Given the description of an element on the screen output the (x, y) to click on. 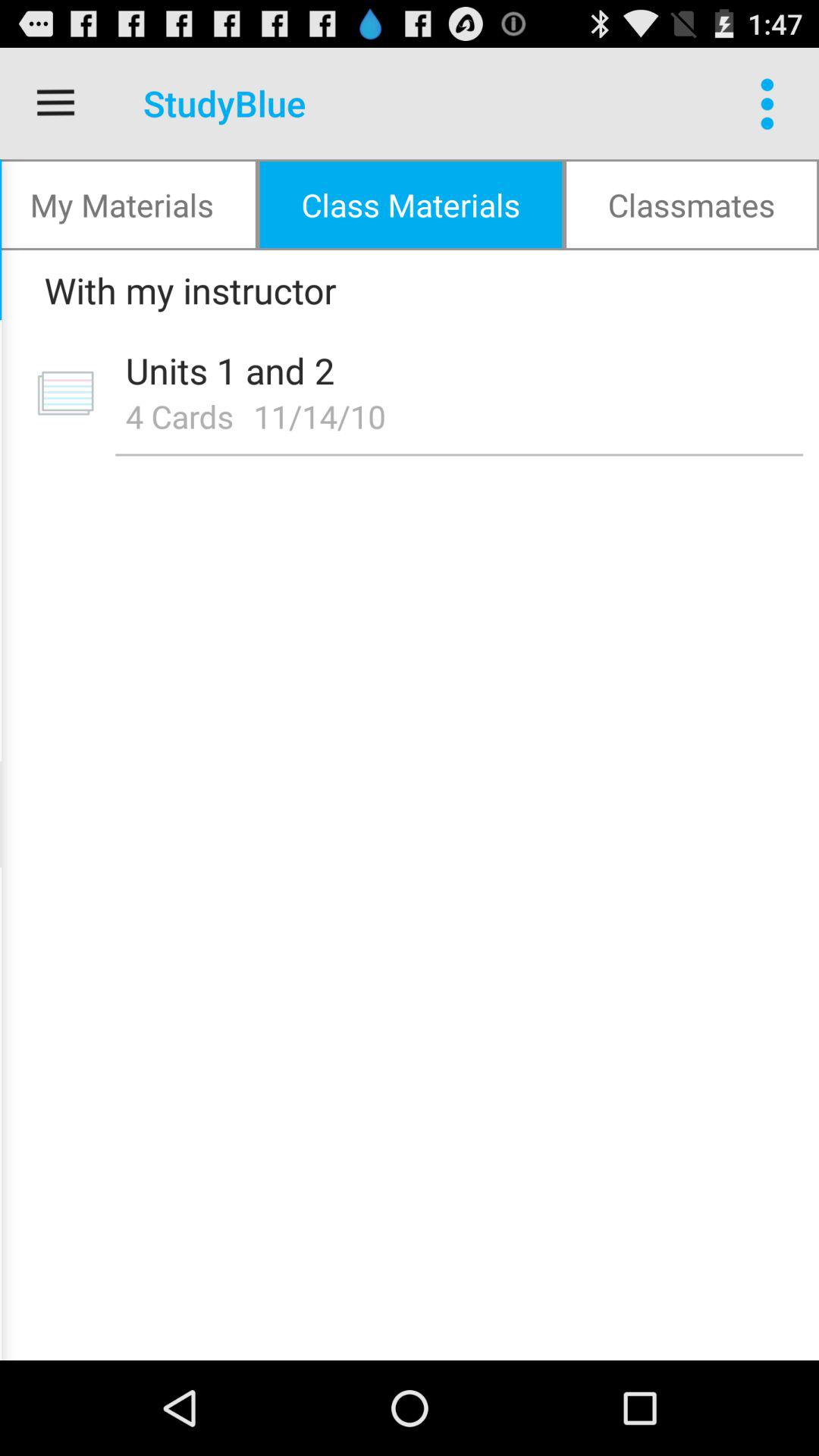
click the icon below my materials item (404, 290)
